Given the description of an element on the screen output the (x, y) to click on. 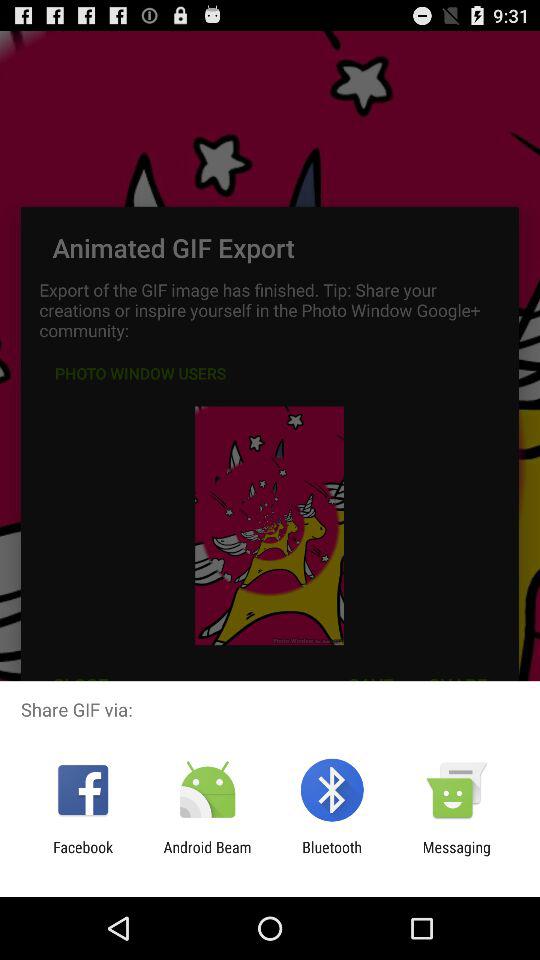
click the facebook (83, 856)
